Given the description of an element on the screen output the (x, y) to click on. 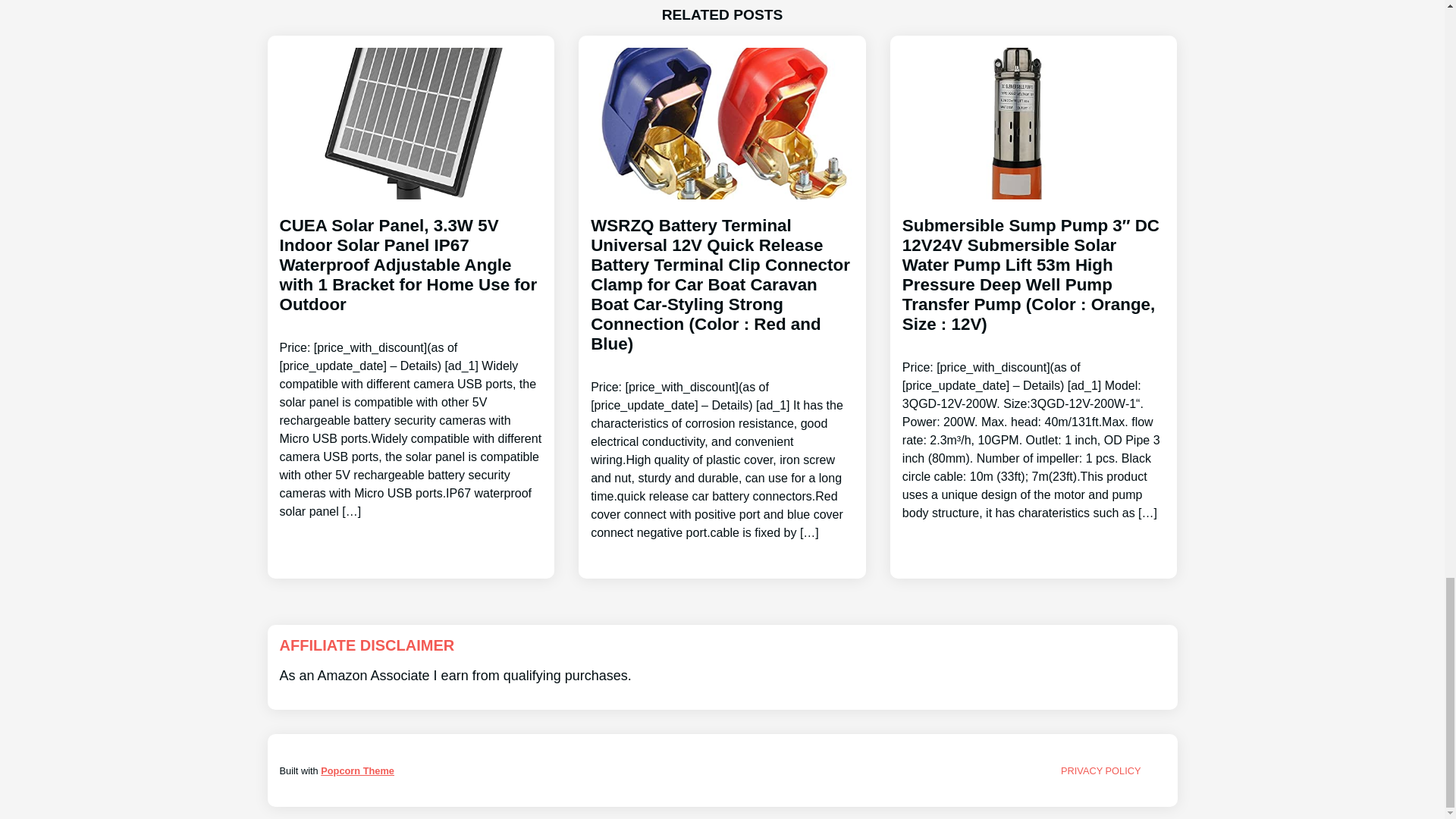
Popcorn Theme (357, 770)
PRIVACY POLICY (1101, 770)
